Given the description of an element on the screen output the (x, y) to click on. 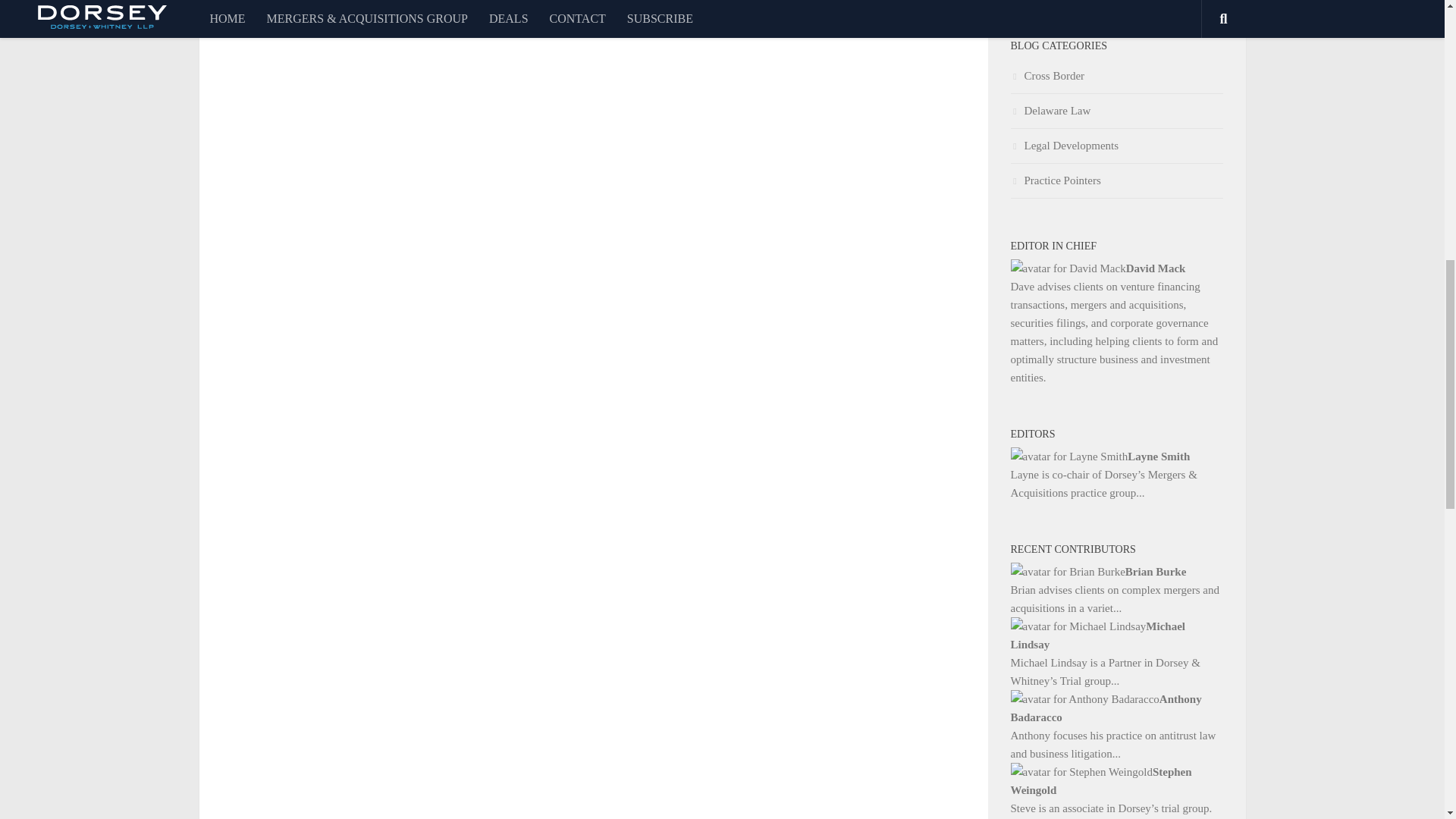
Cross Border (1047, 75)
Layne Smith (1116, 456)
Delaware Law (1050, 110)
Anthony Badaracco (1116, 708)
Brian Burke (1116, 571)
Stephen Weingold (1116, 780)
David Mack (1116, 268)
Layne Smith (1116, 456)
Michael Lindsay (1116, 635)
Legal Developments (1064, 145)
Practice Pointers (1055, 180)
David Mack (1116, 268)
